Given the description of an element on the screen output the (x, y) to click on. 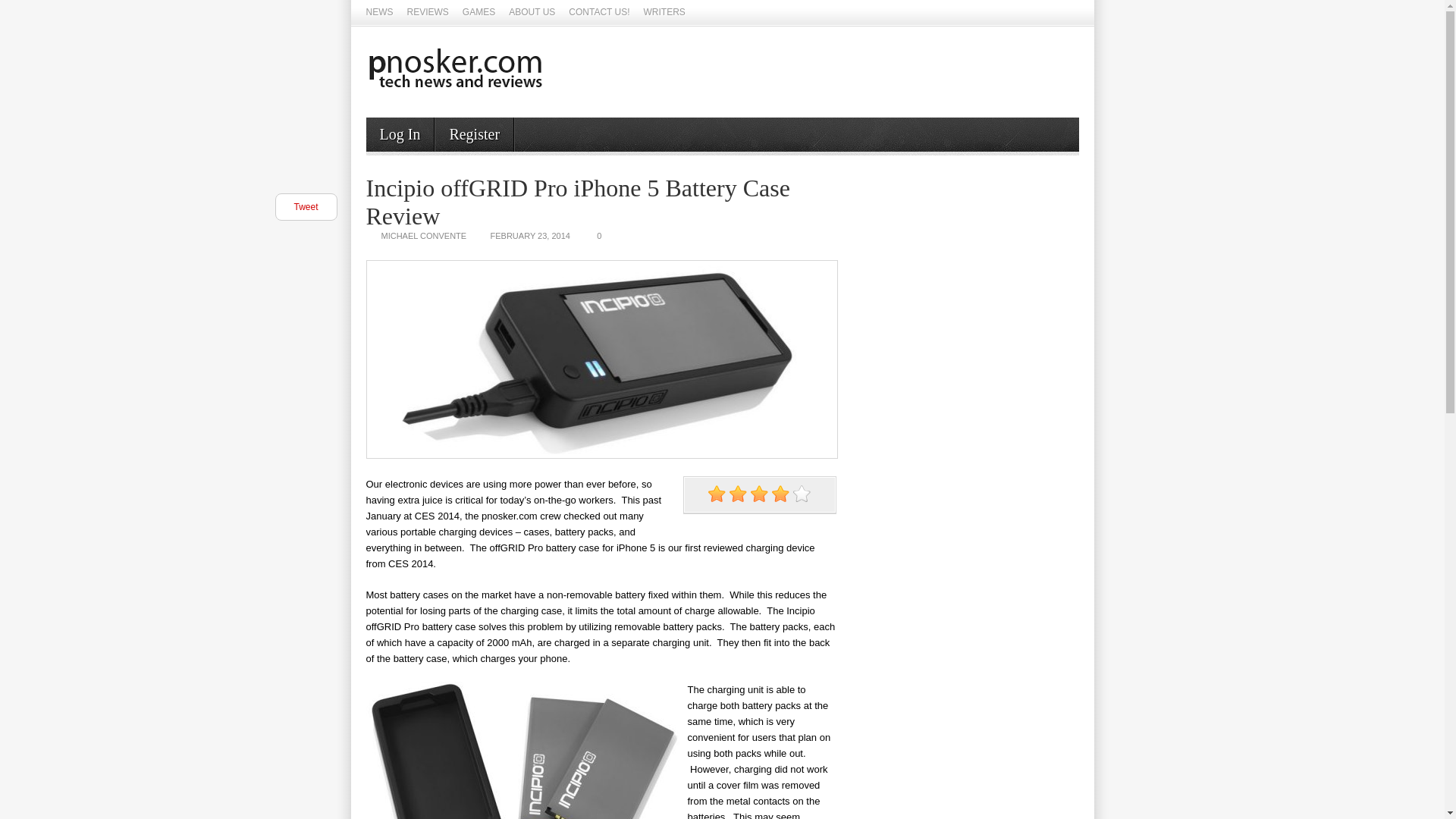
ABOUT US (531, 13)
WRITERS (664, 13)
Register (474, 133)
NEWS (379, 13)
GAMES (479, 13)
CONTACT US! (598, 13)
Log In (399, 133)
REVIEWS (427, 13)
